Given the description of an element on the screen output the (x, y) to click on. 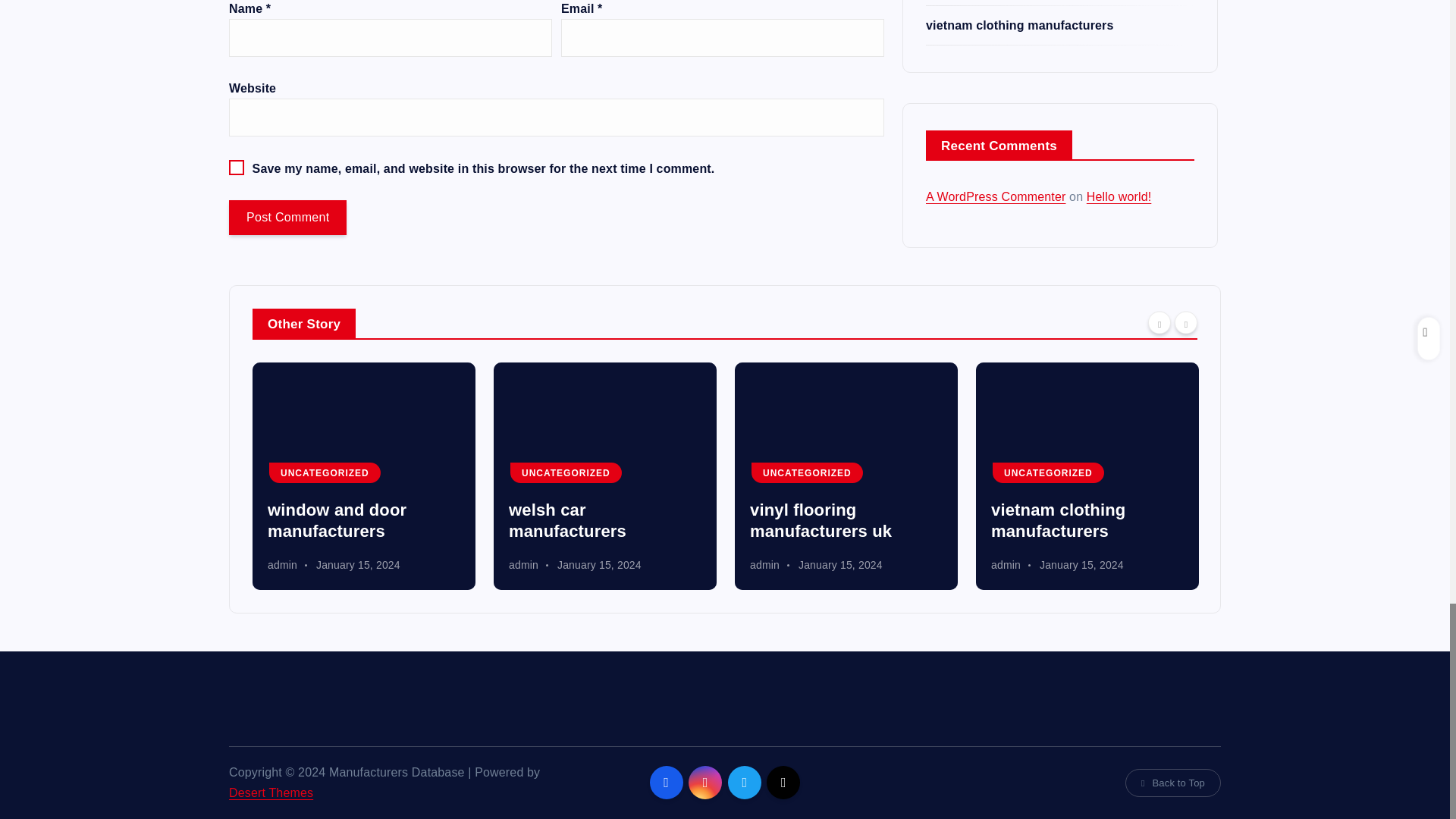
Post Comment (287, 217)
yes (236, 167)
Post Comment (287, 217)
